Given the description of an element on the screen output the (x, y) to click on. 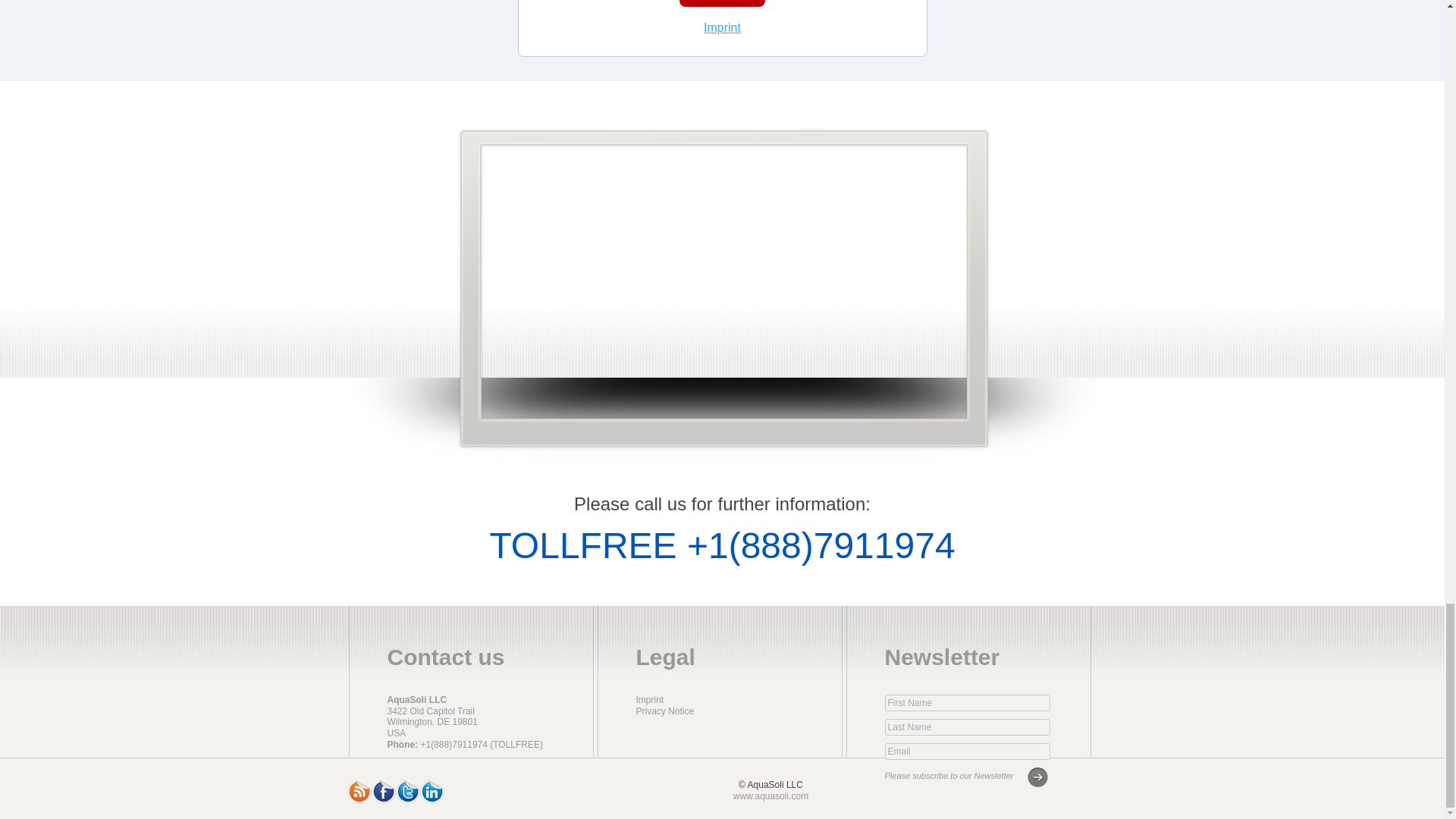
Subscribe (722, 3)
Privacy Notice (664, 710)
Last Name (966, 727)
www.aquasoli.com (770, 796)
Imprint (722, 27)
First Name (966, 702)
Email (966, 751)
Imprint (648, 699)
